Given the description of an element on the screen output the (x, y) to click on. 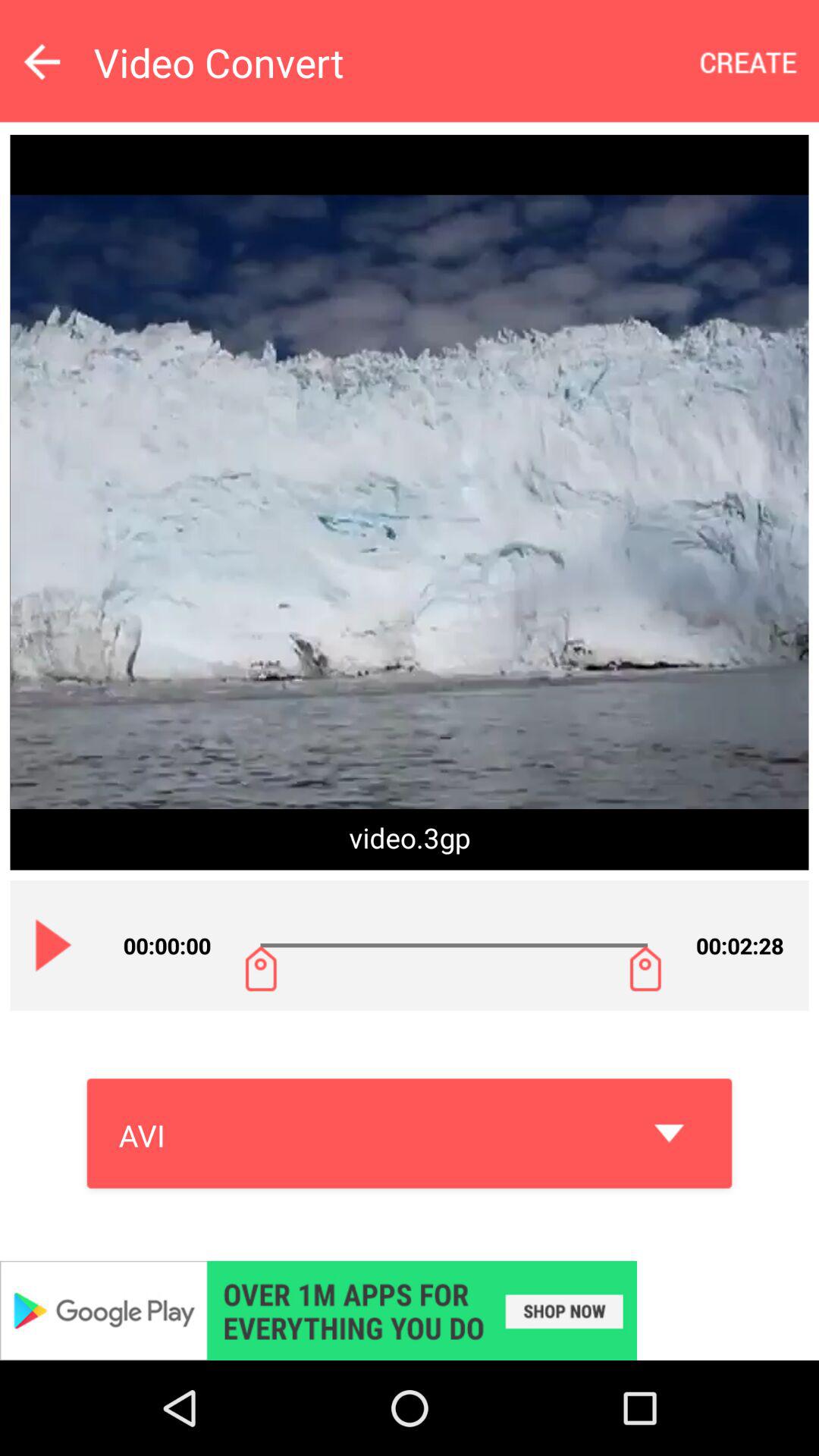
go to previous (41, 61)
